Given the description of an element on the screen output the (x, y) to click on. 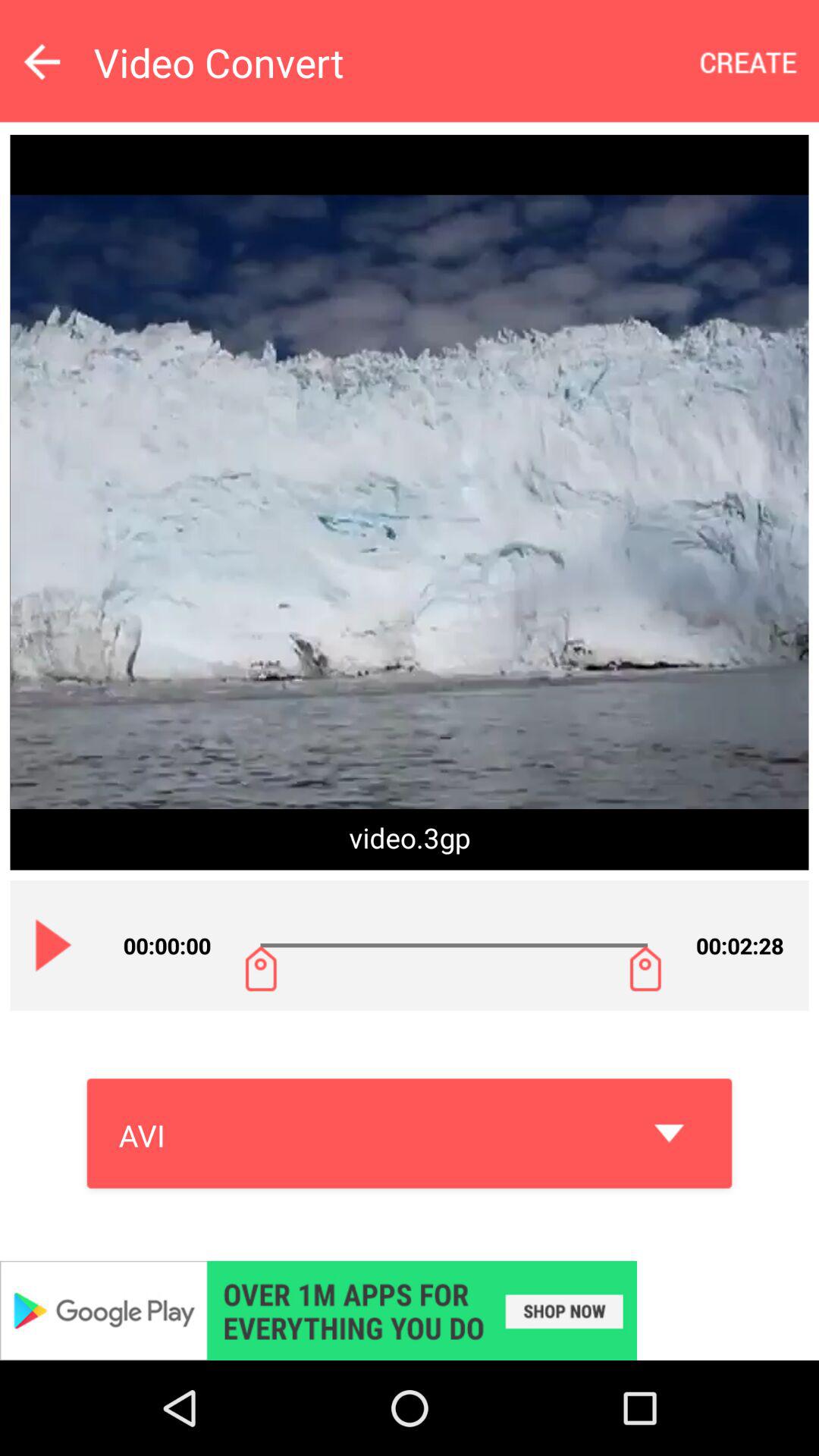
go to previous (41, 61)
